Given the description of an element on the screen output the (x, y) to click on. 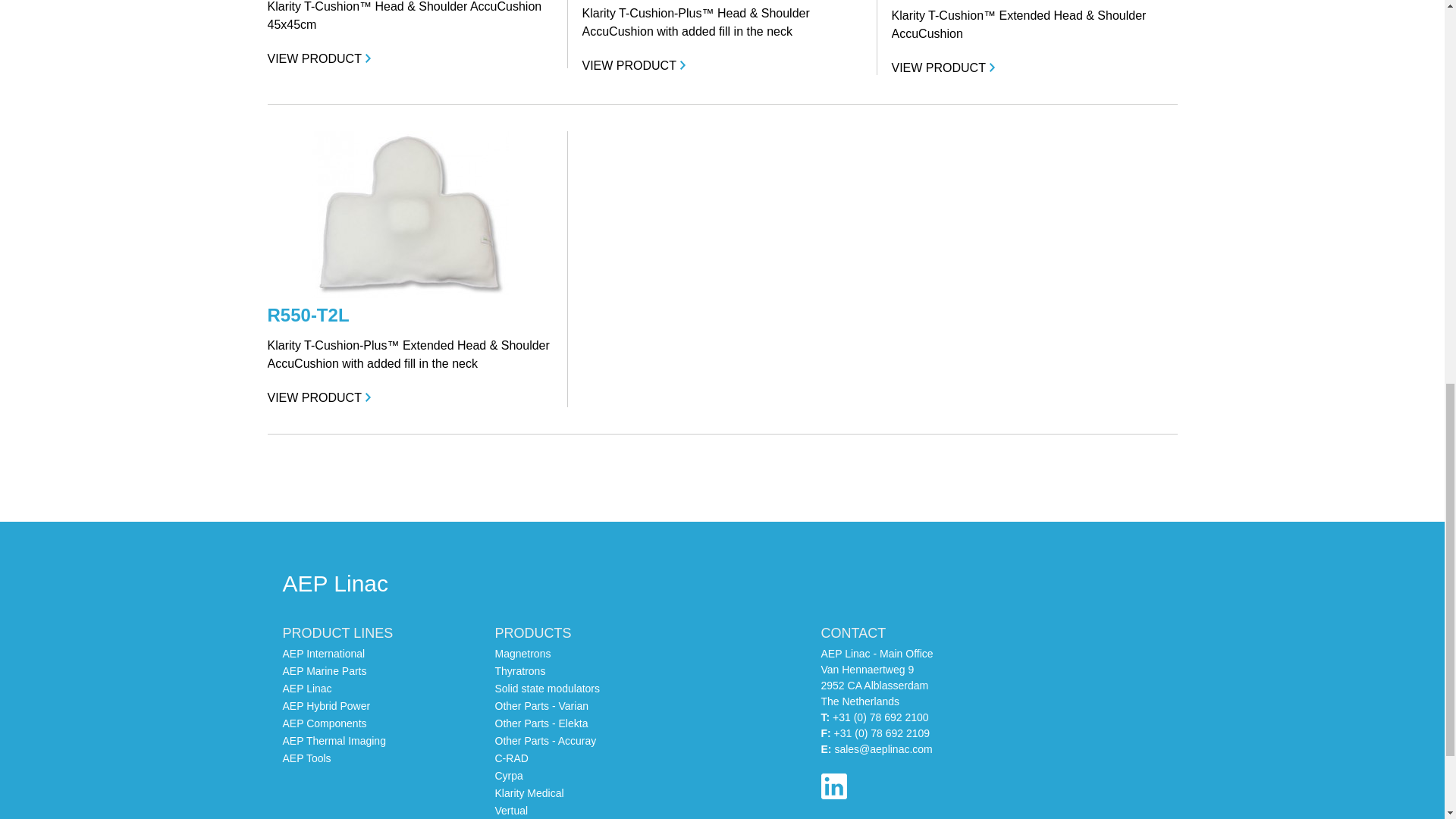
VIEW PRODUCT (408, 58)
